Given the description of an element on the screen output the (x, y) to click on. 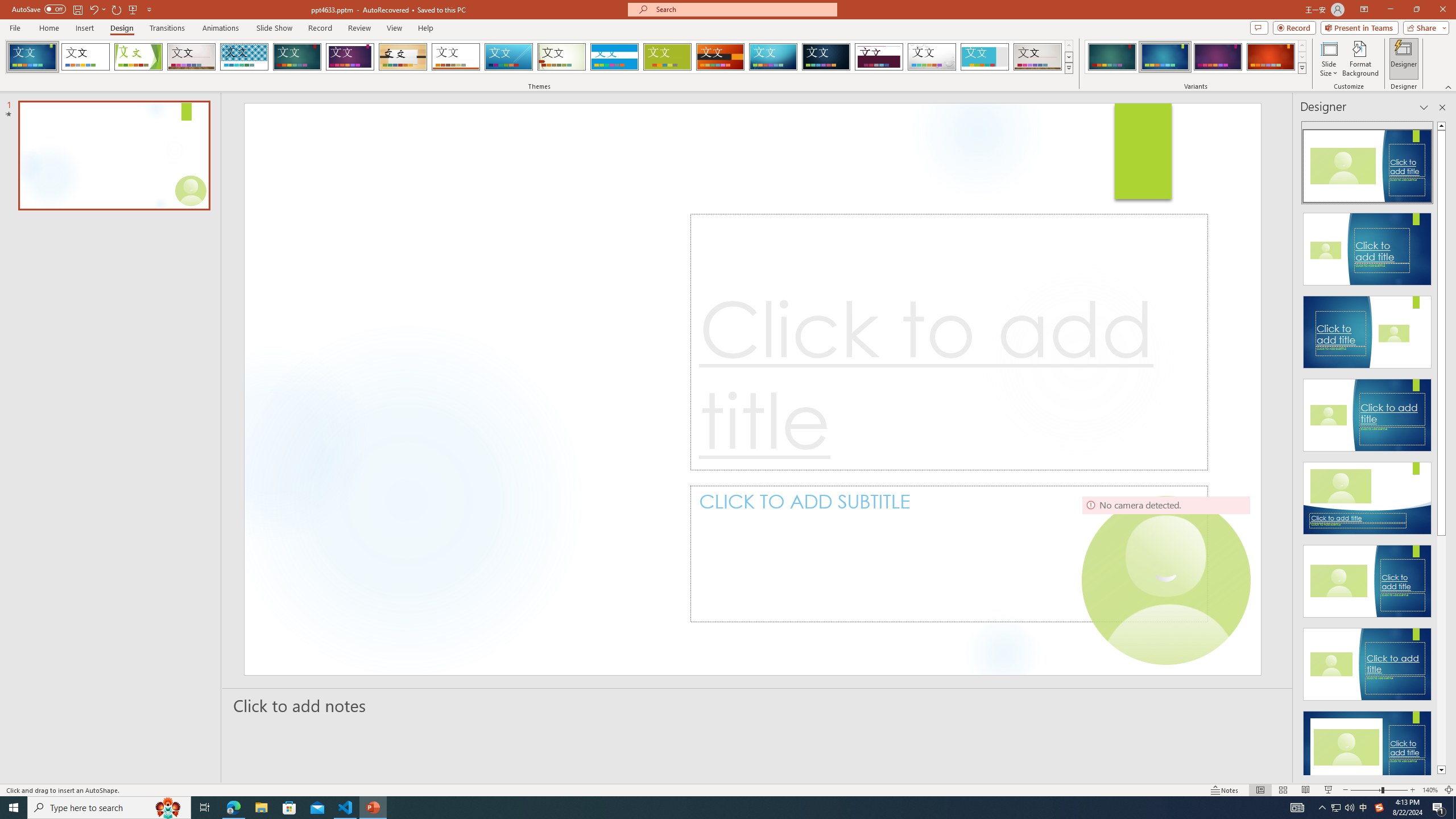
Circuit Loading Preview... (772, 56)
Ion Boardroom Loading Preview... (350, 56)
Dividend Loading Preview... (879, 56)
Organic Loading Preview... (403, 56)
Banded Loading Preview... (614, 56)
Gallery (191, 56)
